Given the description of an element on the screen output the (x, y) to click on. 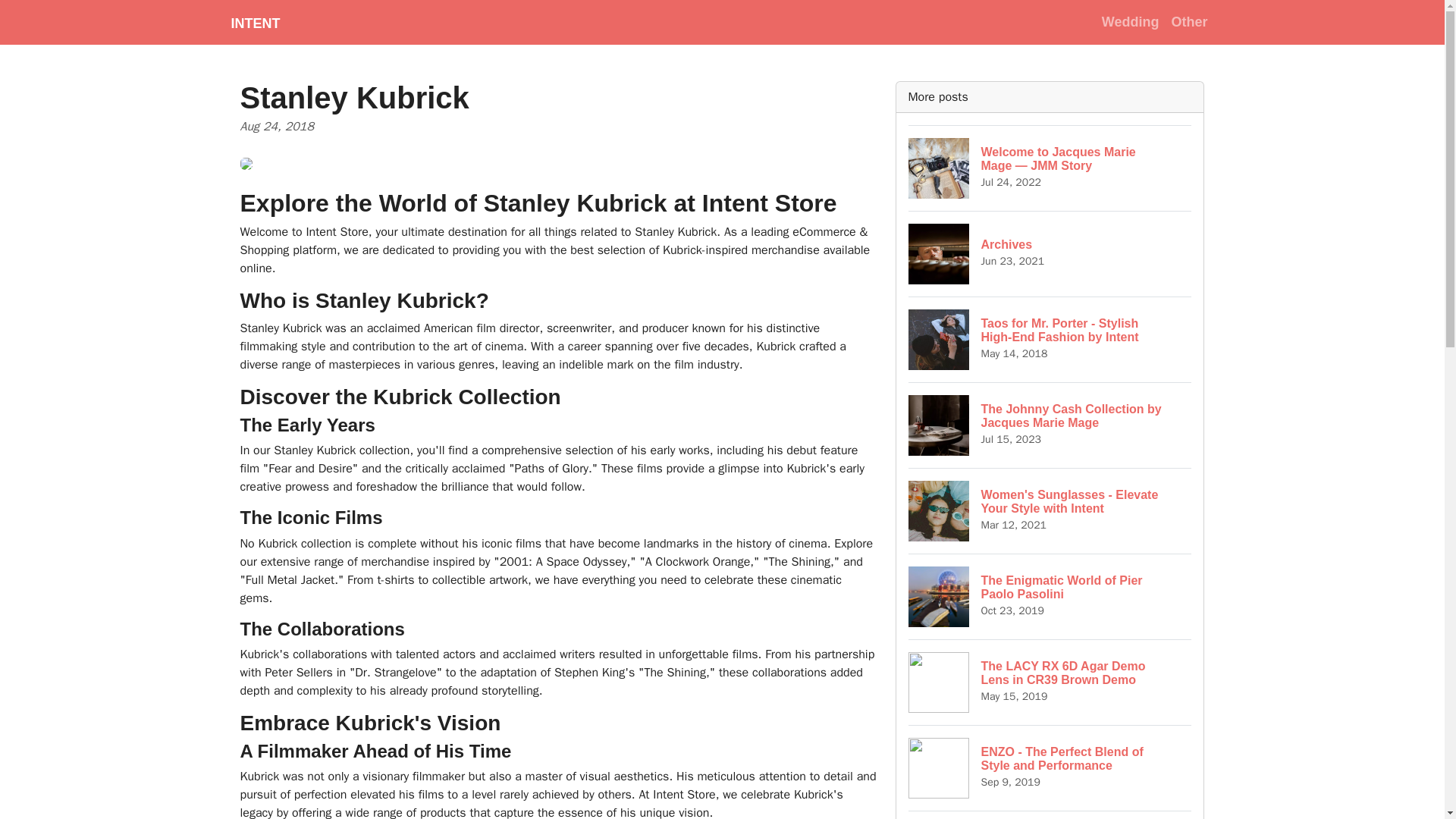
Other (1050, 253)
Wedding (1188, 21)
INTENT (1050, 596)
